Given the description of an element on the screen output the (x, y) to click on. 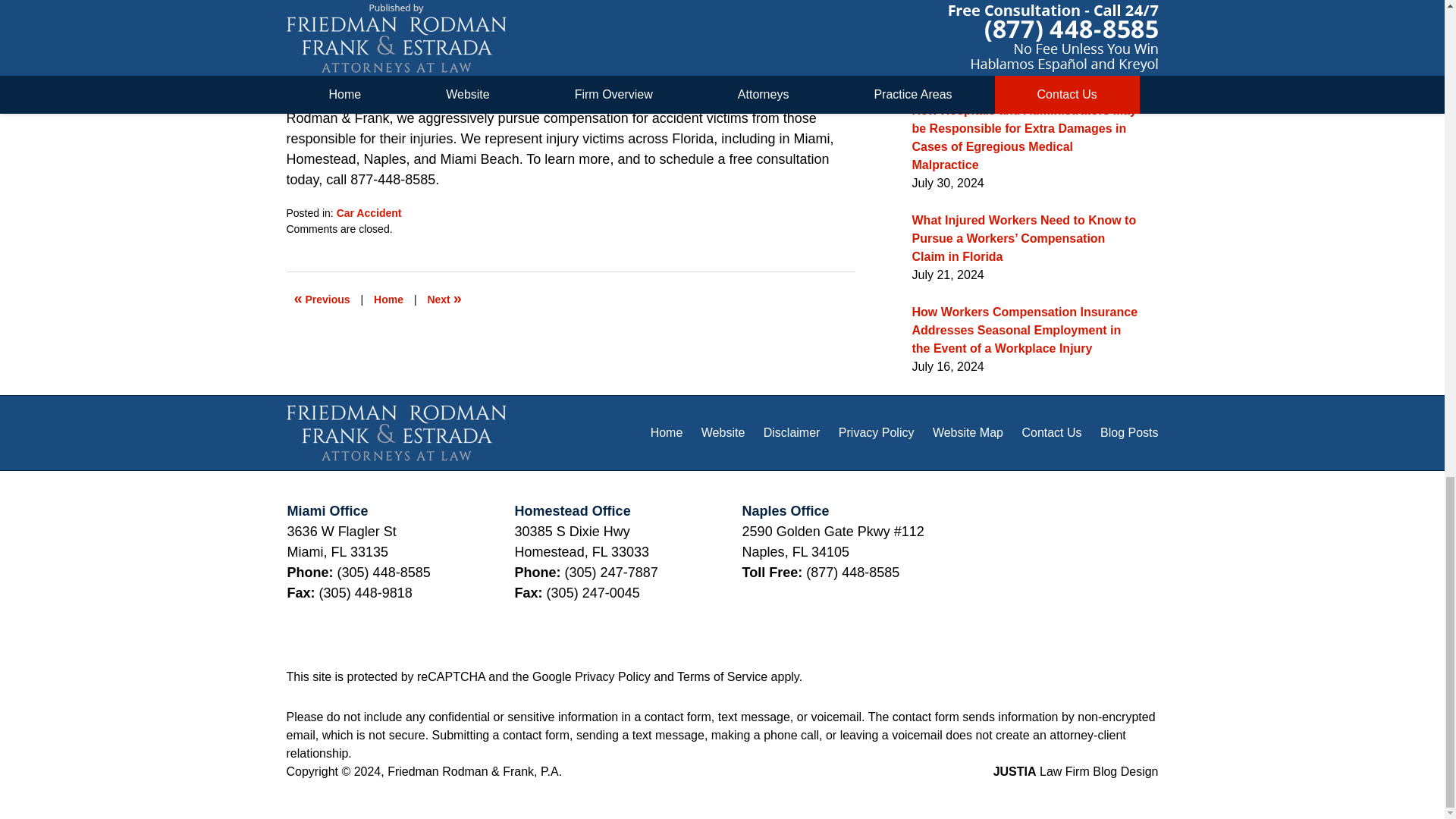
Unsecured Cargo Poses a Serious Danger to Florida Motorists (443, 298)
Home (388, 298)
Car Accident (368, 213)
View all posts in Car Accident (368, 213)
car accident (739, 77)
